Given the description of an element on the screen output the (x, y) to click on. 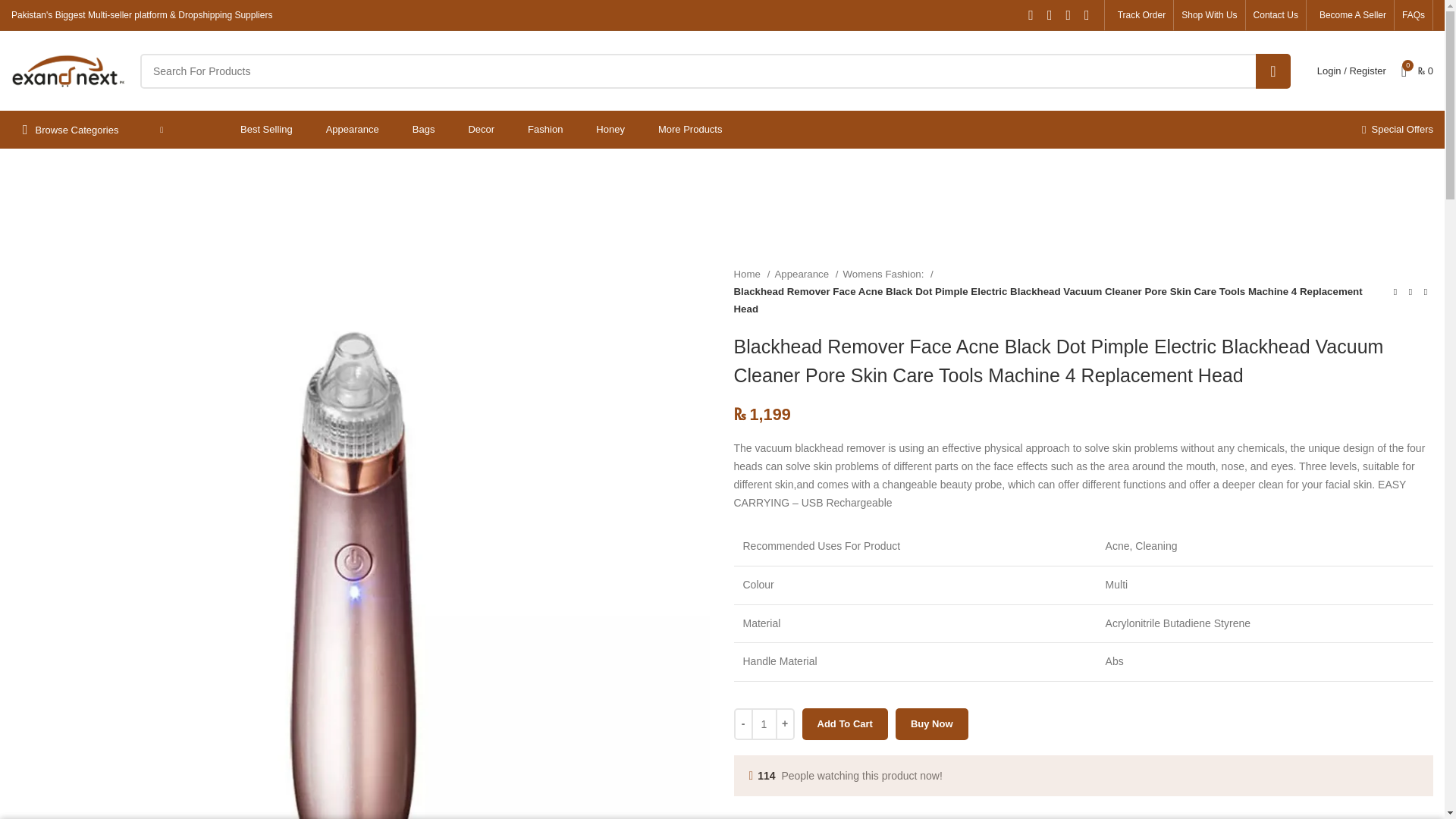
Search (1272, 70)
Search for products (714, 70)
My account (1350, 71)
Become A Seller (1350, 15)
Special Offers (1396, 129)
Shop With Us (1208, 15)
Contact Us (1275, 15)
Track Order (1139, 15)
Honey (609, 129)
Best Selling (266, 129)
